Given the description of an element on the screen output the (x, y) to click on. 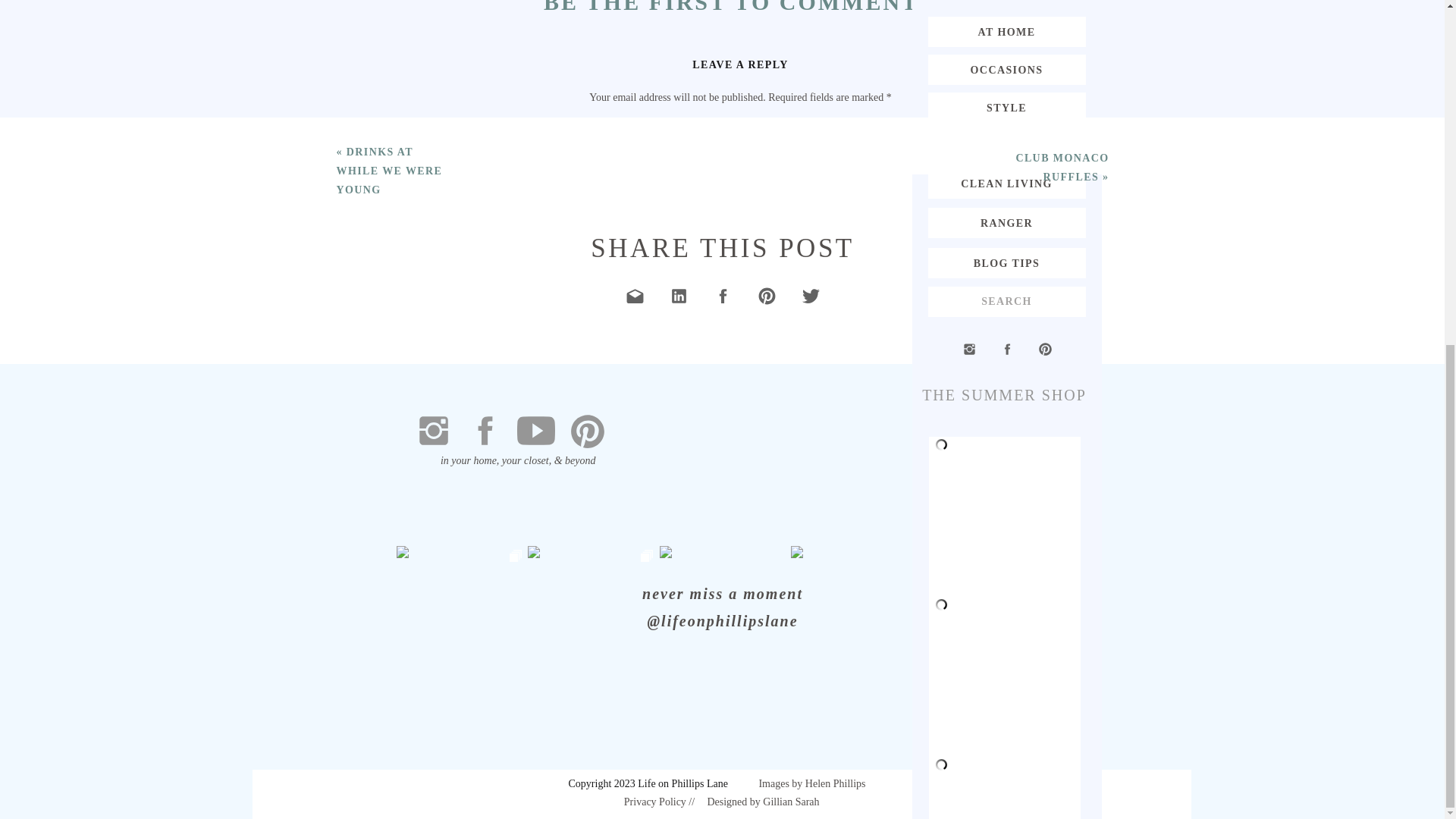
Post Comment (740, 526)
Designed by Gillian Sarah (762, 801)
BLOG TIPS (1006, 262)
yes (740, 461)
Post Comment (740, 526)
BE THE FIRST TO COMMENT (730, 7)
Images by Helen Phillips (812, 783)
STYLE (1006, 107)
here (768, 700)
Southern Tide (556, 700)
